Given the description of an element on the screen output the (x, y) to click on. 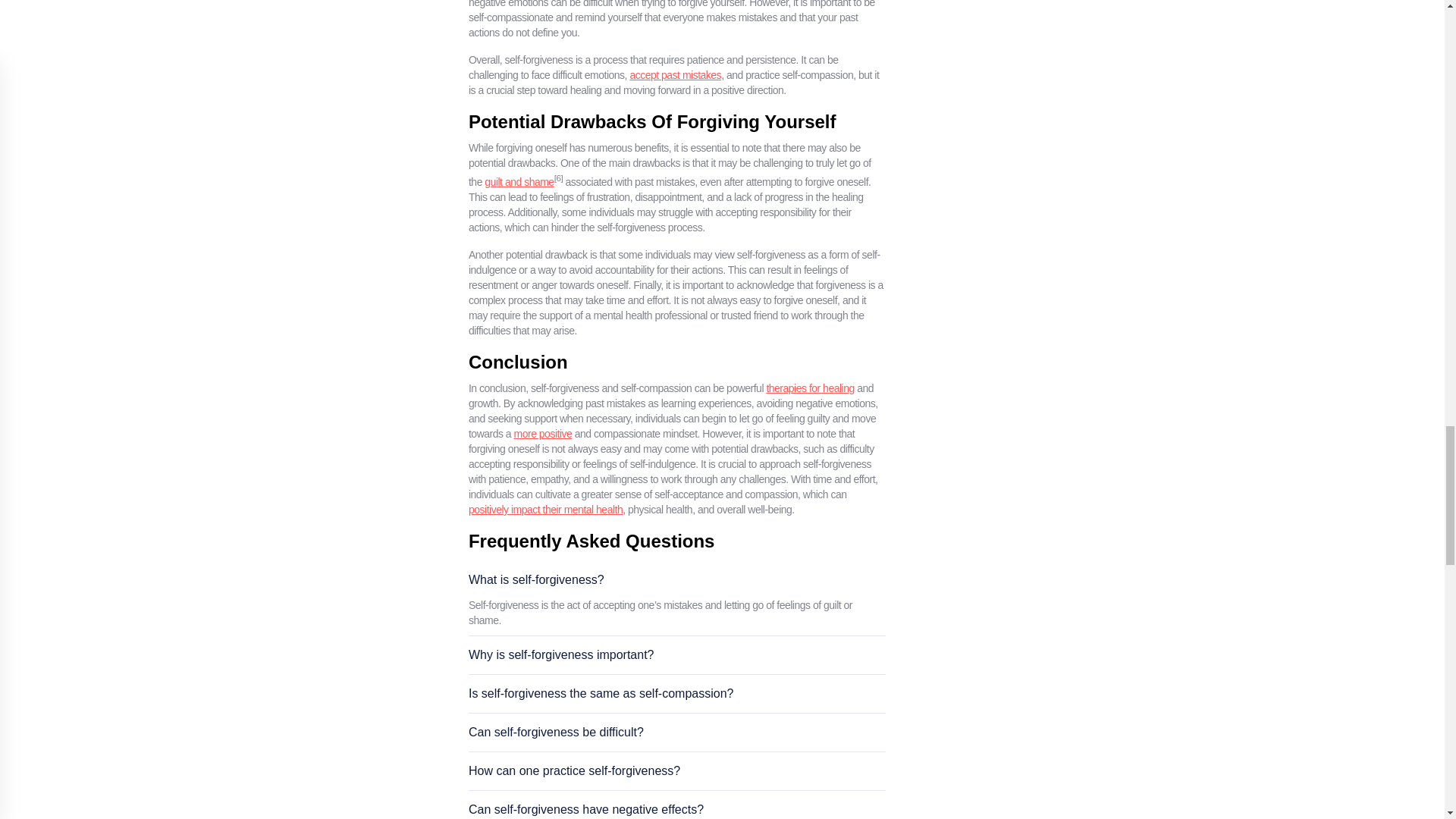
more positive (542, 433)
therapies for healing (809, 387)
guilt and shame (518, 182)
accept past mistakes (674, 74)
positively impact their mental health (545, 509)
